Given the description of an element on the screen output the (x, y) to click on. 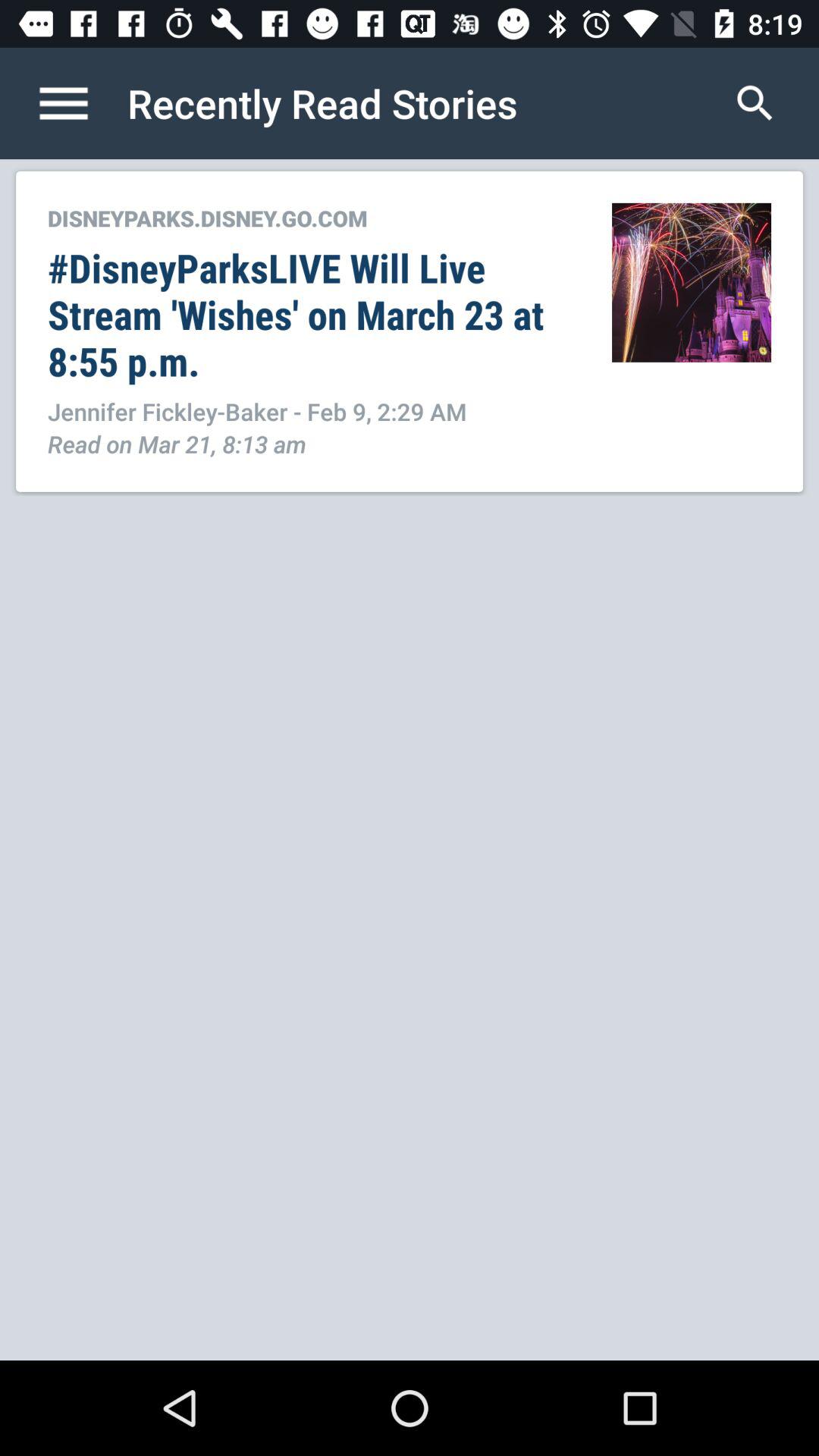
click read on mar icon (176, 443)
